Given the description of an element on the screen output the (x, y) to click on. 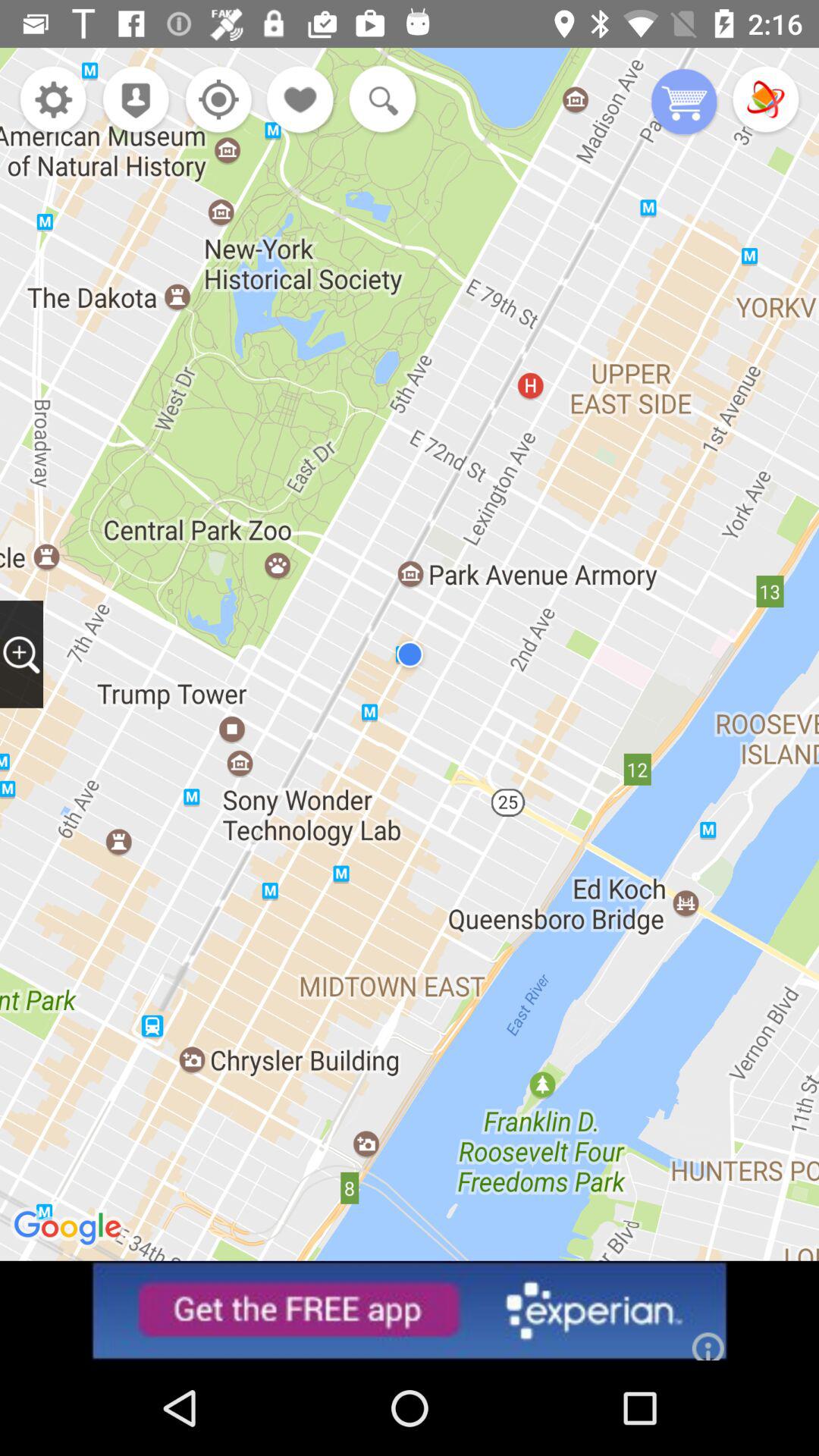
new search (379, 100)
